Given the description of an element on the screen output the (x, y) to click on. 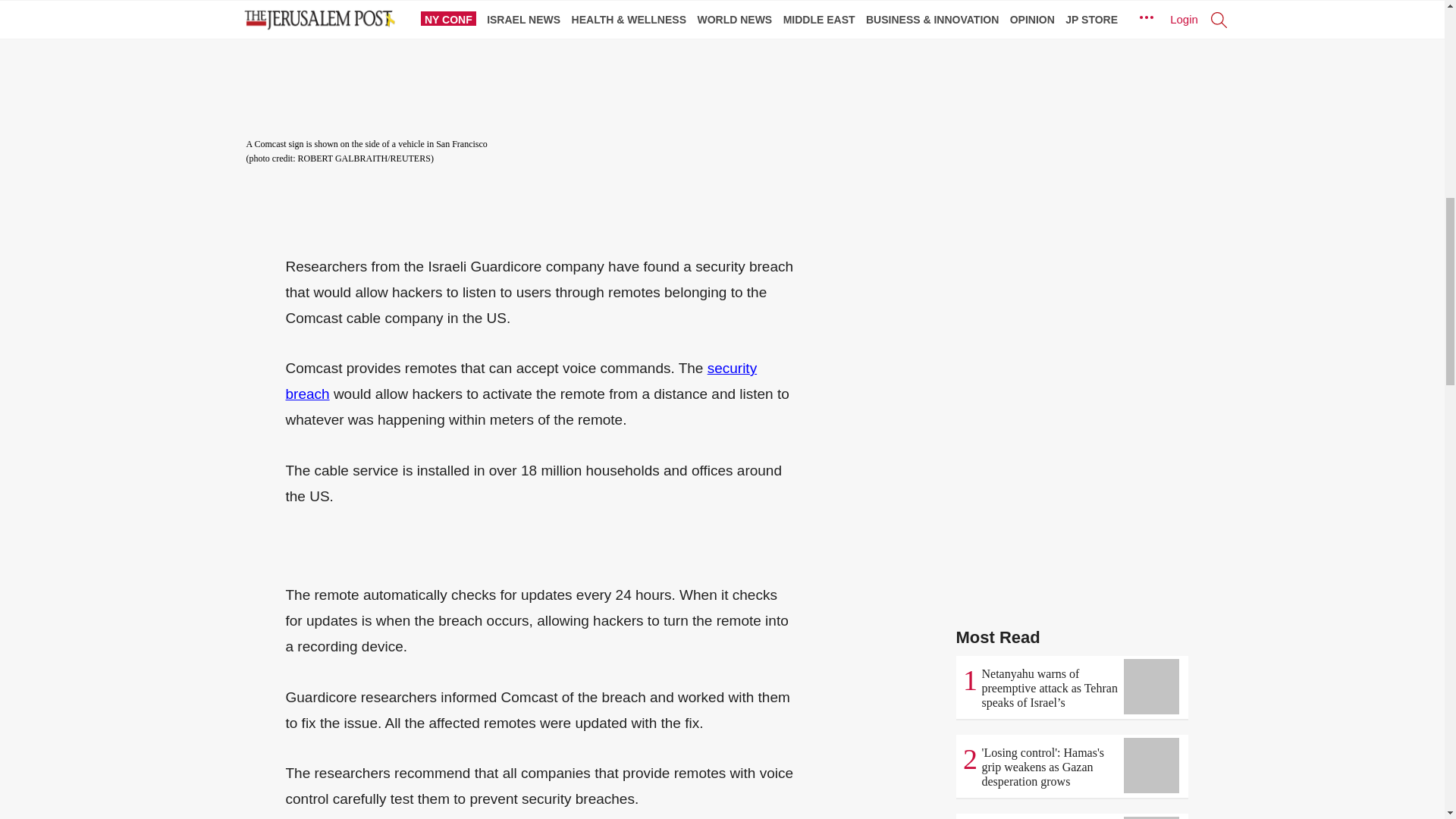
security breach (521, 381)
